Given the description of an element on the screen output the (x, y) to click on. 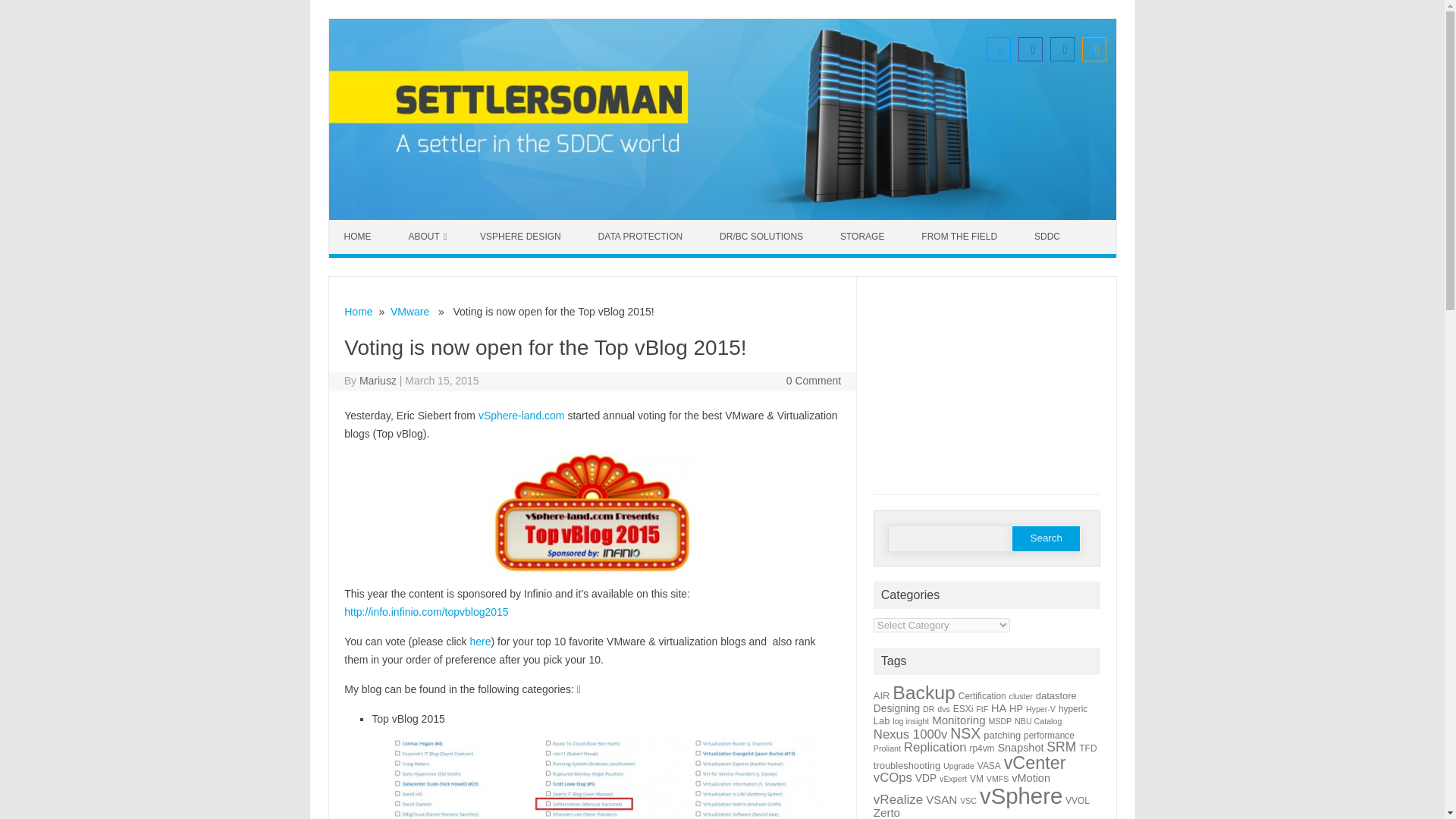
VSPHERE DESIGN (521, 236)
Posts by Mariusz (377, 380)
SDDC (1048, 236)
FROM THE FIELD (960, 236)
DATA PROTECTION (642, 236)
Mariusz (377, 380)
Skip to content (363, 225)
Home (357, 311)
0 Comment (813, 380)
VMware (409, 311)
vSphere-land.com (521, 415)
here (481, 641)
Skip to content (363, 225)
ABOUT (427, 236)
STORAGE (863, 236)
